Given the description of an element on the screen output the (x, y) to click on. 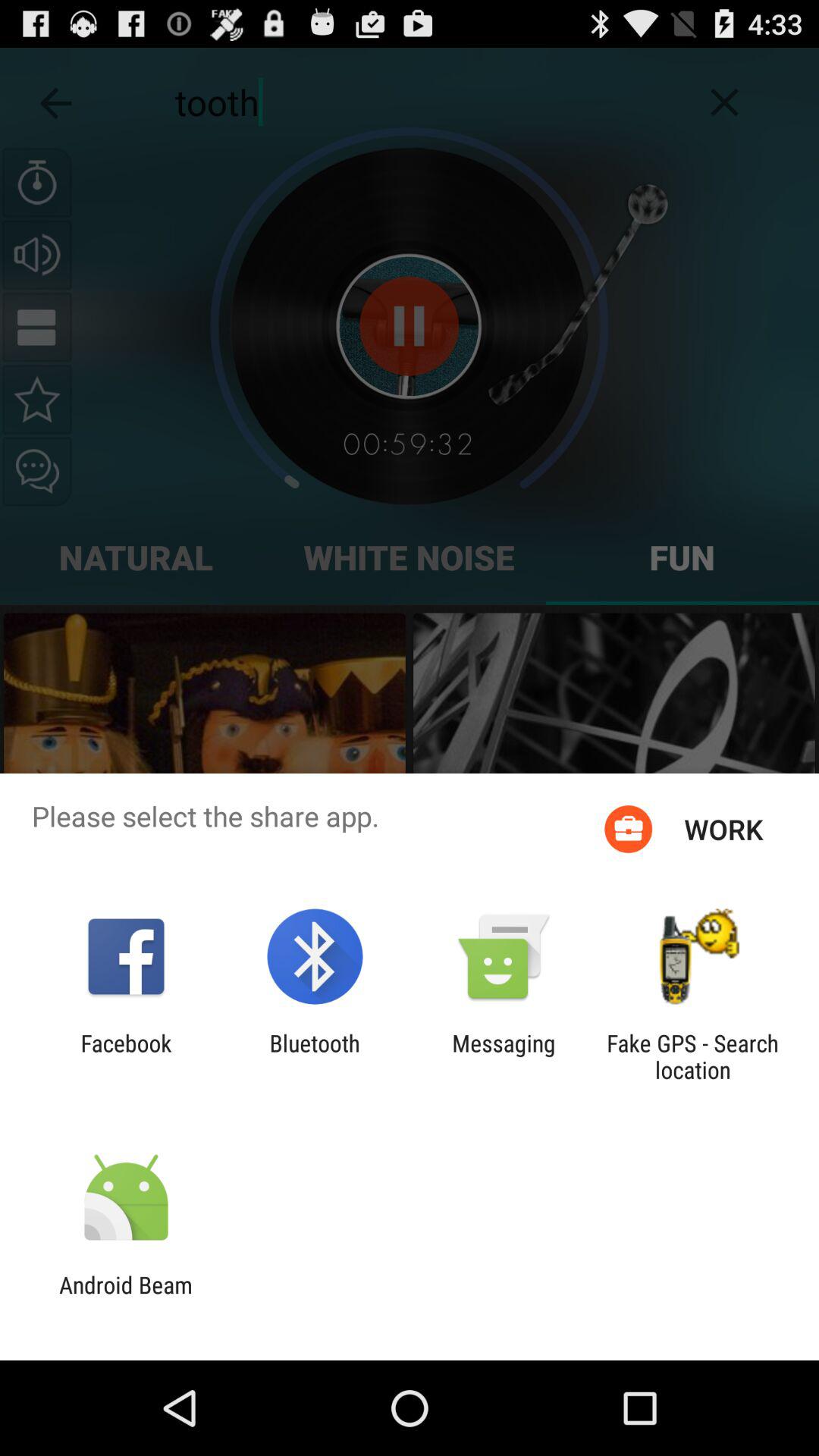
scroll until bluetooth icon (314, 1056)
